Given the description of an element on the screen output the (x, y) to click on. 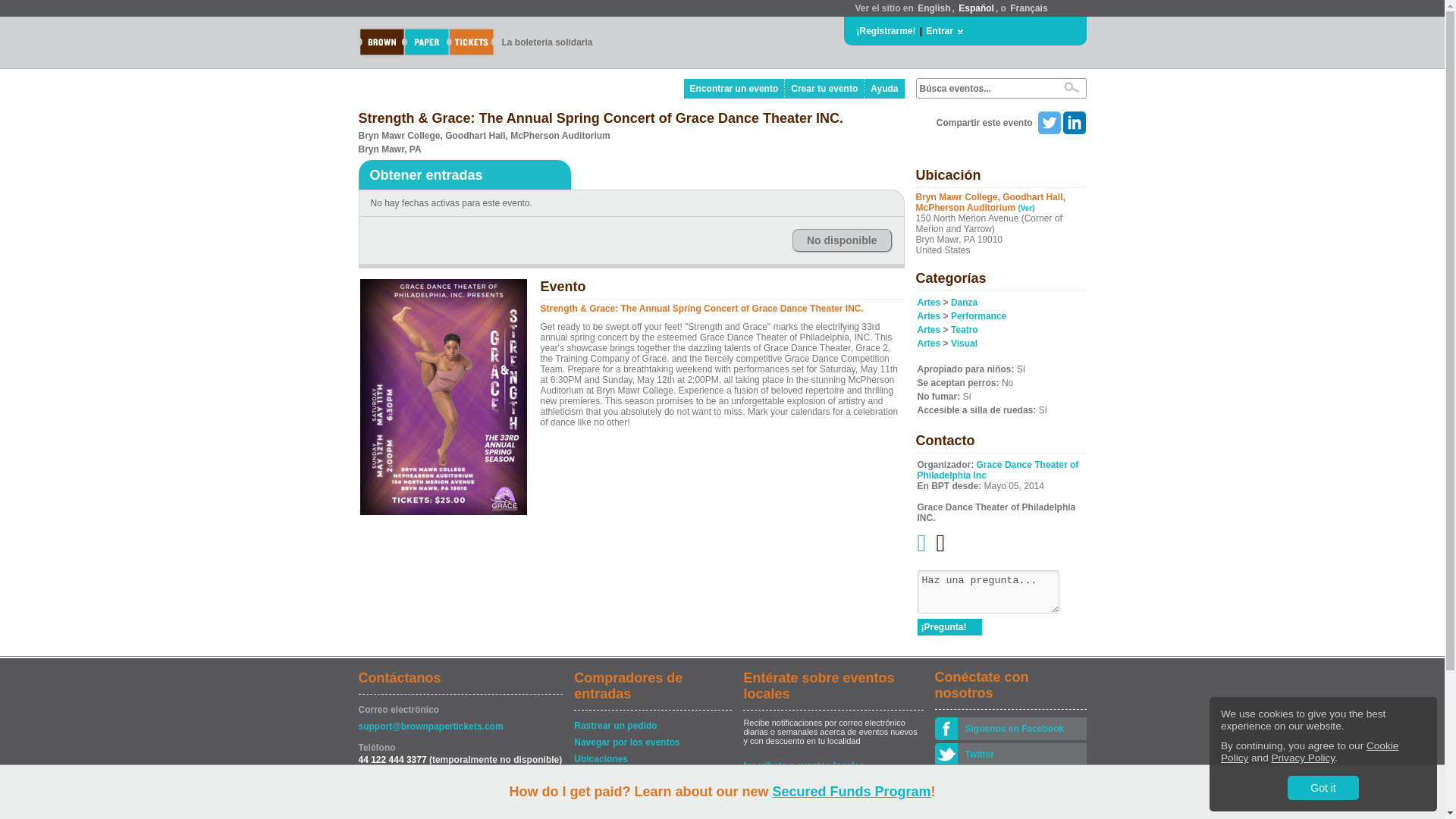
Visual (963, 343)
Crear un evento (651, 814)
Encontrar un evento (735, 88)
English (933, 8)
Submit to Twitter! (1048, 122)
Cookie Policy (1309, 751)
Performance (978, 316)
Artes (928, 302)
Grace Dance Theater of Philadelphia Inc (997, 469)
Privacy Policy (1303, 757)
Teatro (964, 329)
Ubicaciones (651, 758)
Artes (928, 329)
Got it (1322, 787)
Entrar (939, 30)
